Given the description of an element on the screen output the (x, y) to click on. 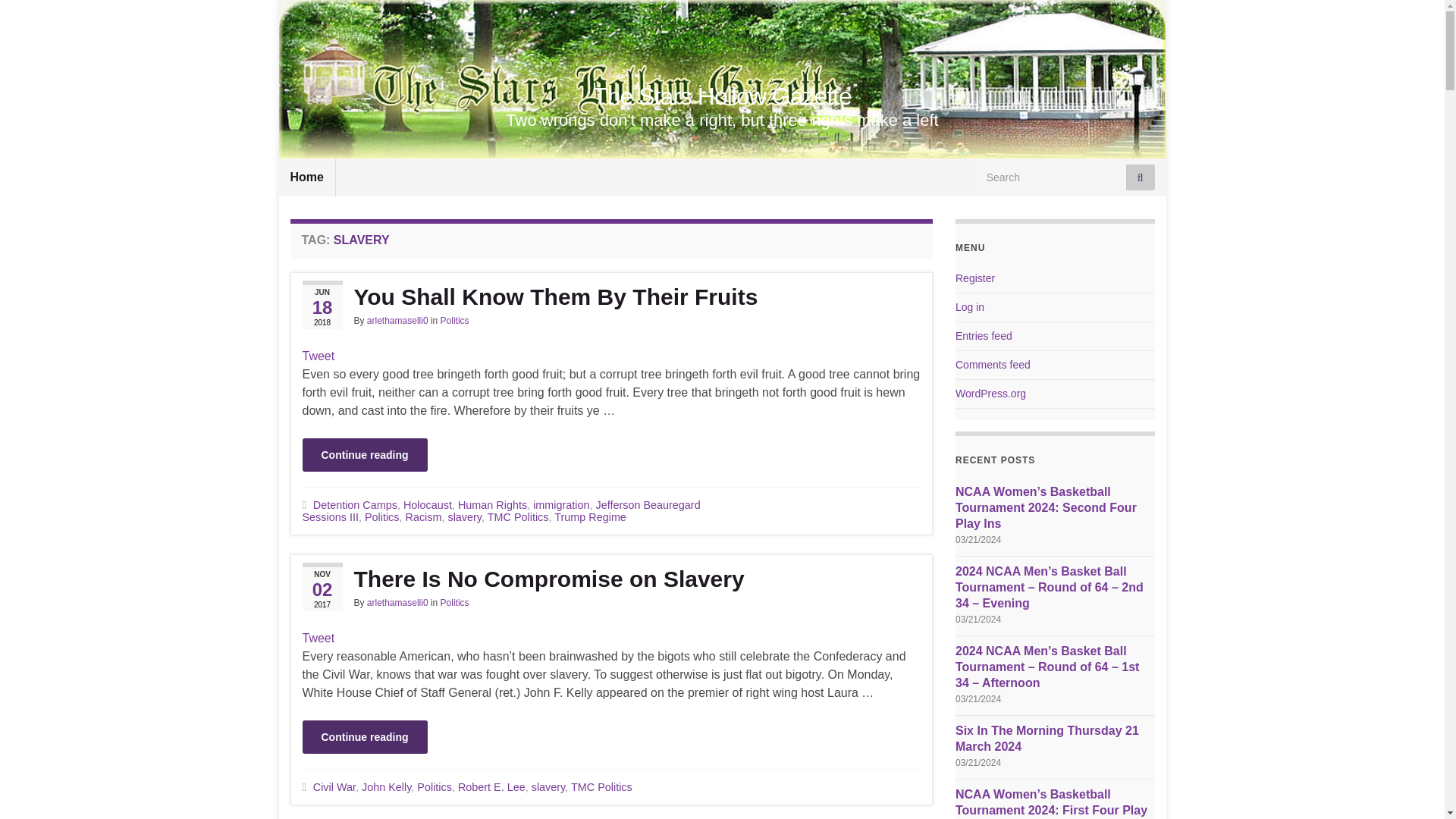
Human Rights (492, 504)
Racism (422, 517)
Permalink to There Is No Compromise on Slavery (610, 579)
Jefferson Beauregard Sessions III (500, 510)
Detention Camps (355, 504)
slavery (548, 787)
Politics (381, 517)
arlethamaselli0 (397, 602)
You Shall Know Them By Their Fruits (610, 297)
Holocaust (427, 504)
